Given the description of an element on the screen output the (x, y) to click on. 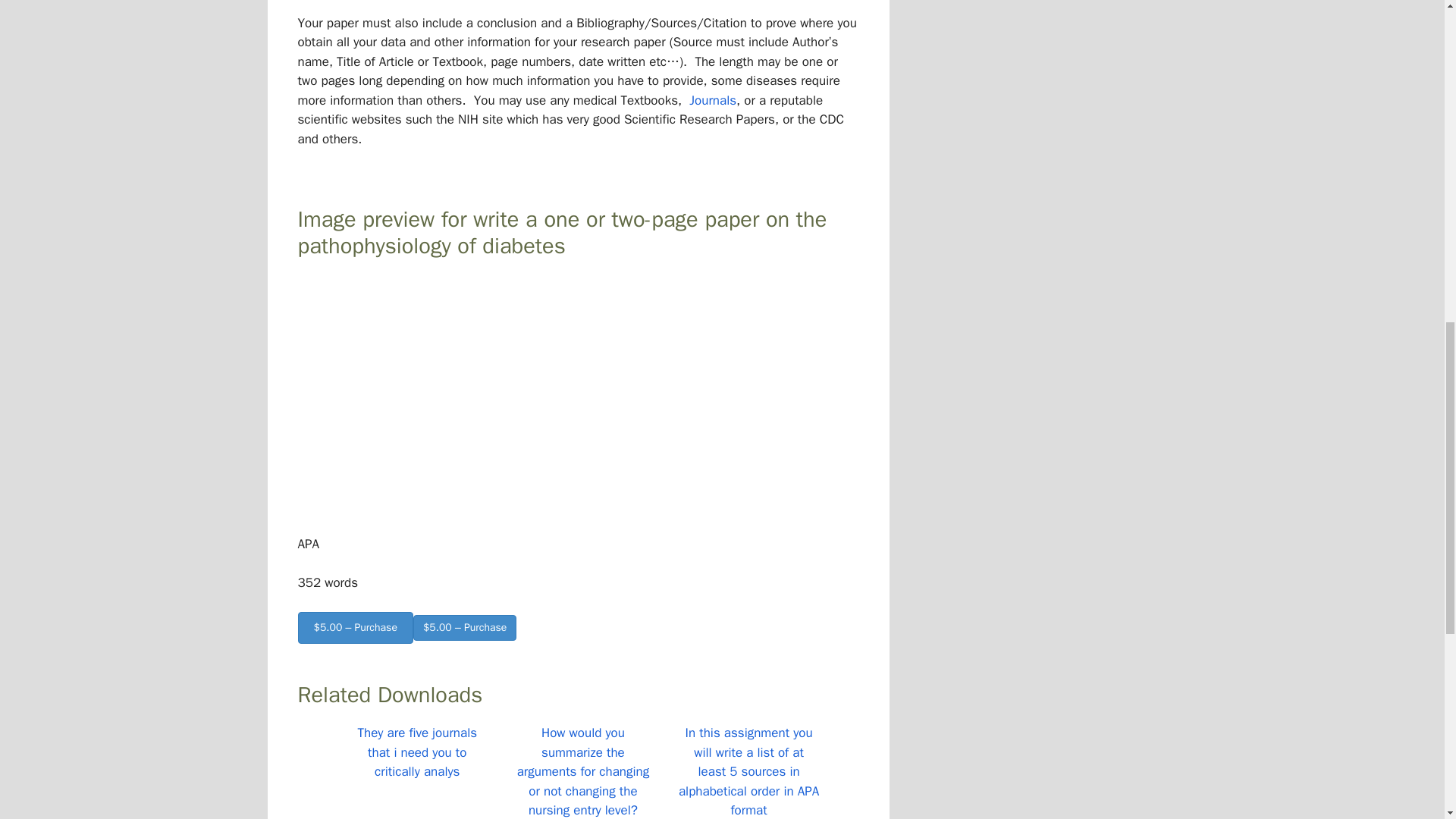
They are five journals that i need you to critically analys (417, 751)
They are five journals that i need you to critically analys (417, 751)
Scroll back to top (1406, 720)
Journals (712, 100)
